Given the description of an element on the screen output the (x, y) to click on. 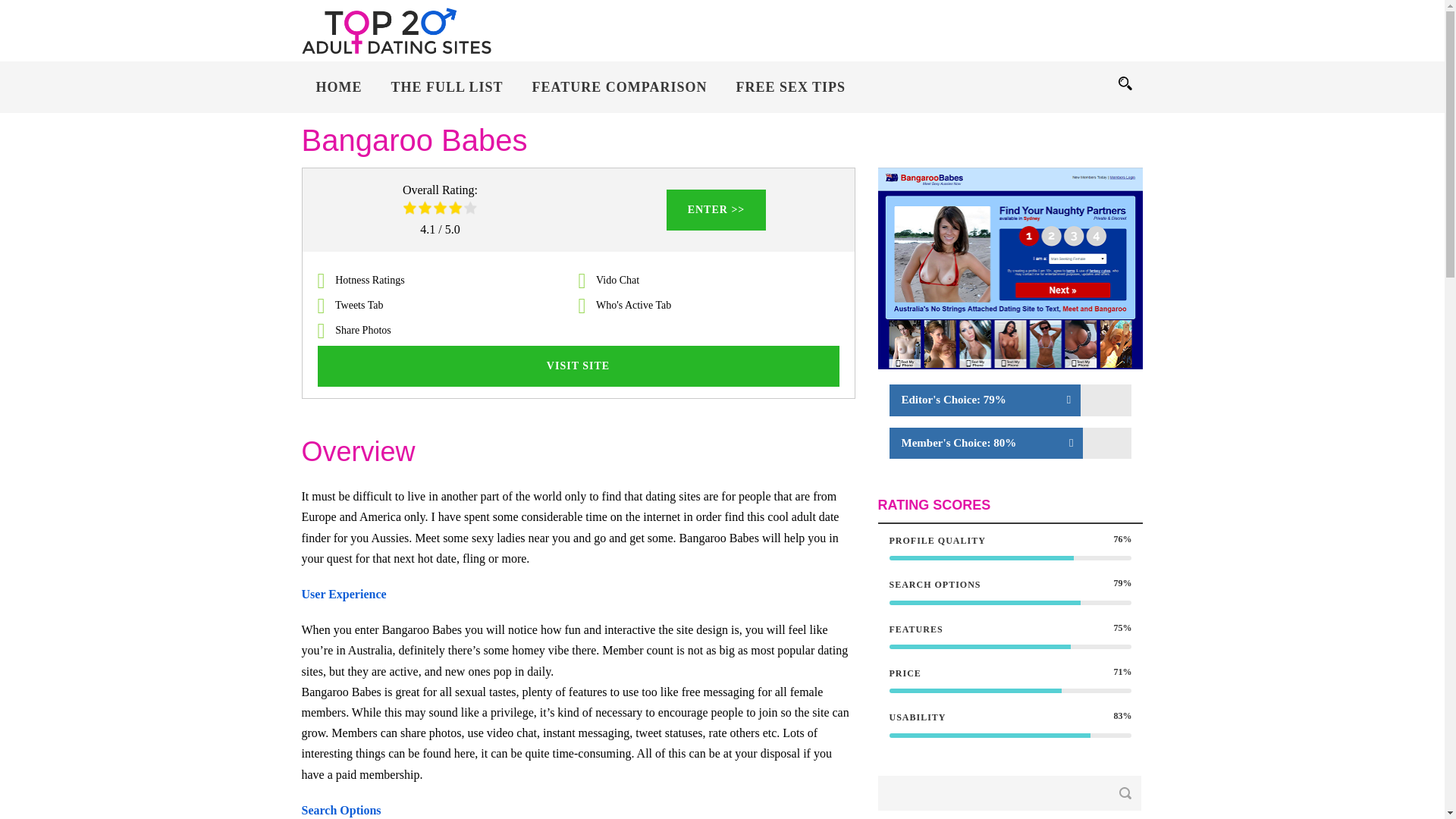
VISIT SITE (577, 365)
Bangaroo Babes (1009, 268)
THE FULL LIST (445, 94)
HOME (339, 94)
FEATURE COMPARISON (620, 94)
FREE SEX TIPS (790, 94)
